Given the description of an element on the screen output the (x, y) to click on. 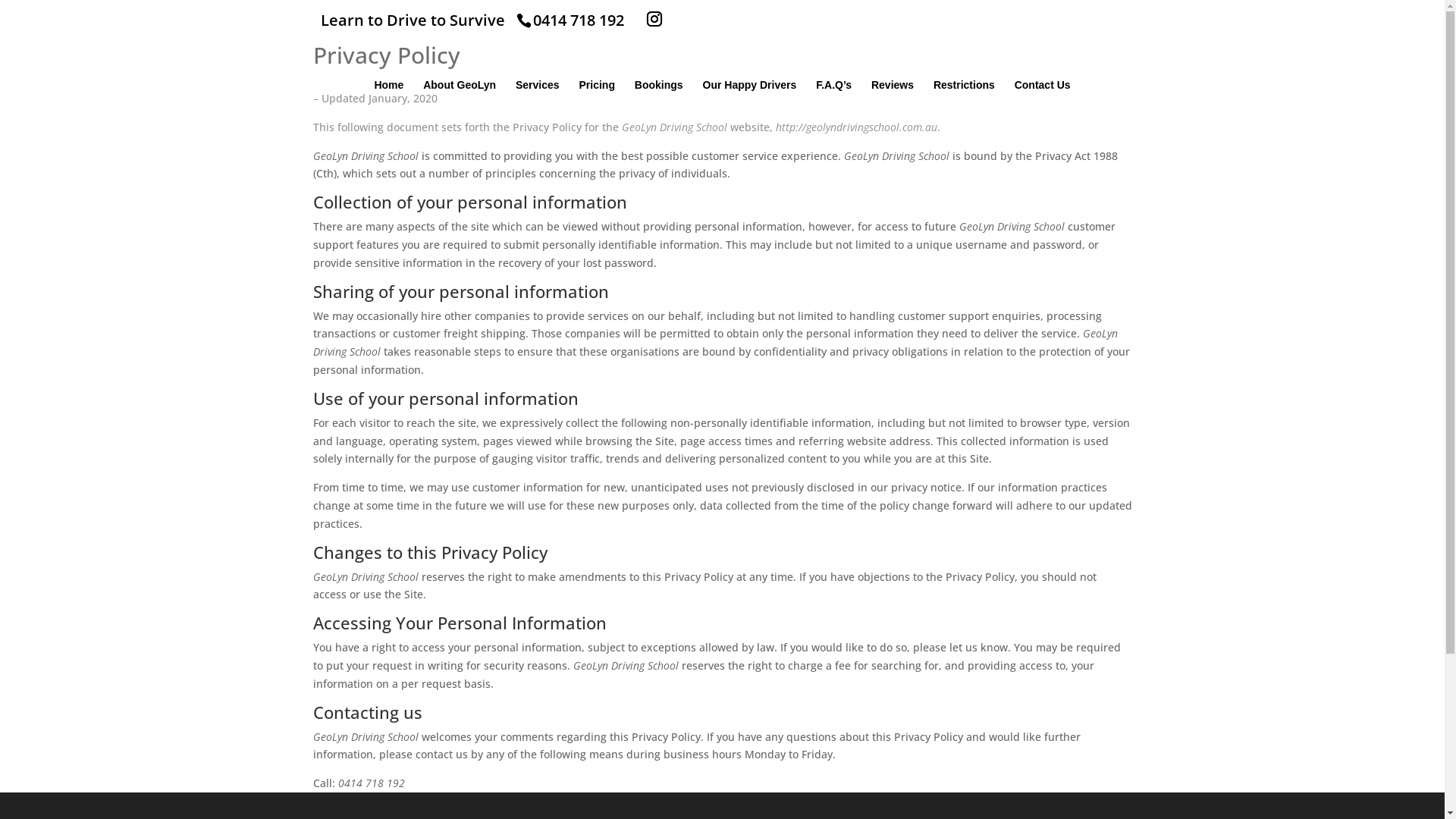
Reviews Element type: text (892, 113)
Contact Us Element type: text (1042, 113)
Home Element type: text (388, 113)
Bookings Element type: text (658, 113)
Services Element type: text (537, 113)
Our Happy Drivers Element type: text (749, 113)
Pricing Element type: text (596, 113)
About GeoLyn Element type: text (459, 113)
Restrictions Element type: text (963, 113)
